Given the description of an element on the screen output the (x, y) to click on. 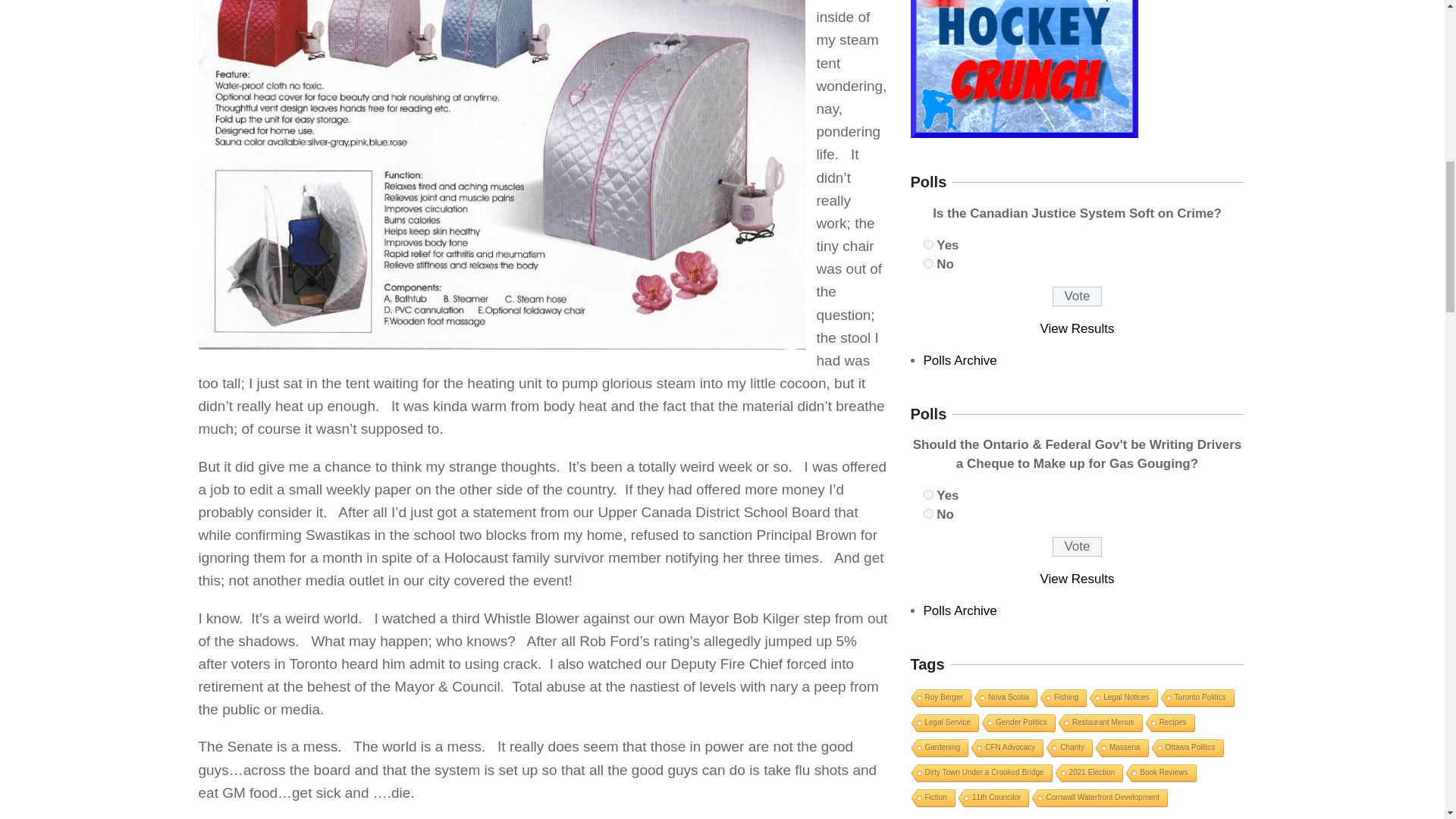
1762 (928, 494)
View Results Of This Poll (1078, 328)
View Results Of This Poll (1078, 578)
1755 (928, 263)
1754 (928, 244)
1763 (928, 513)
   Vote    (1076, 546)
   Vote    (1076, 296)
